Given the description of an element on the screen output the (x, y) to click on. 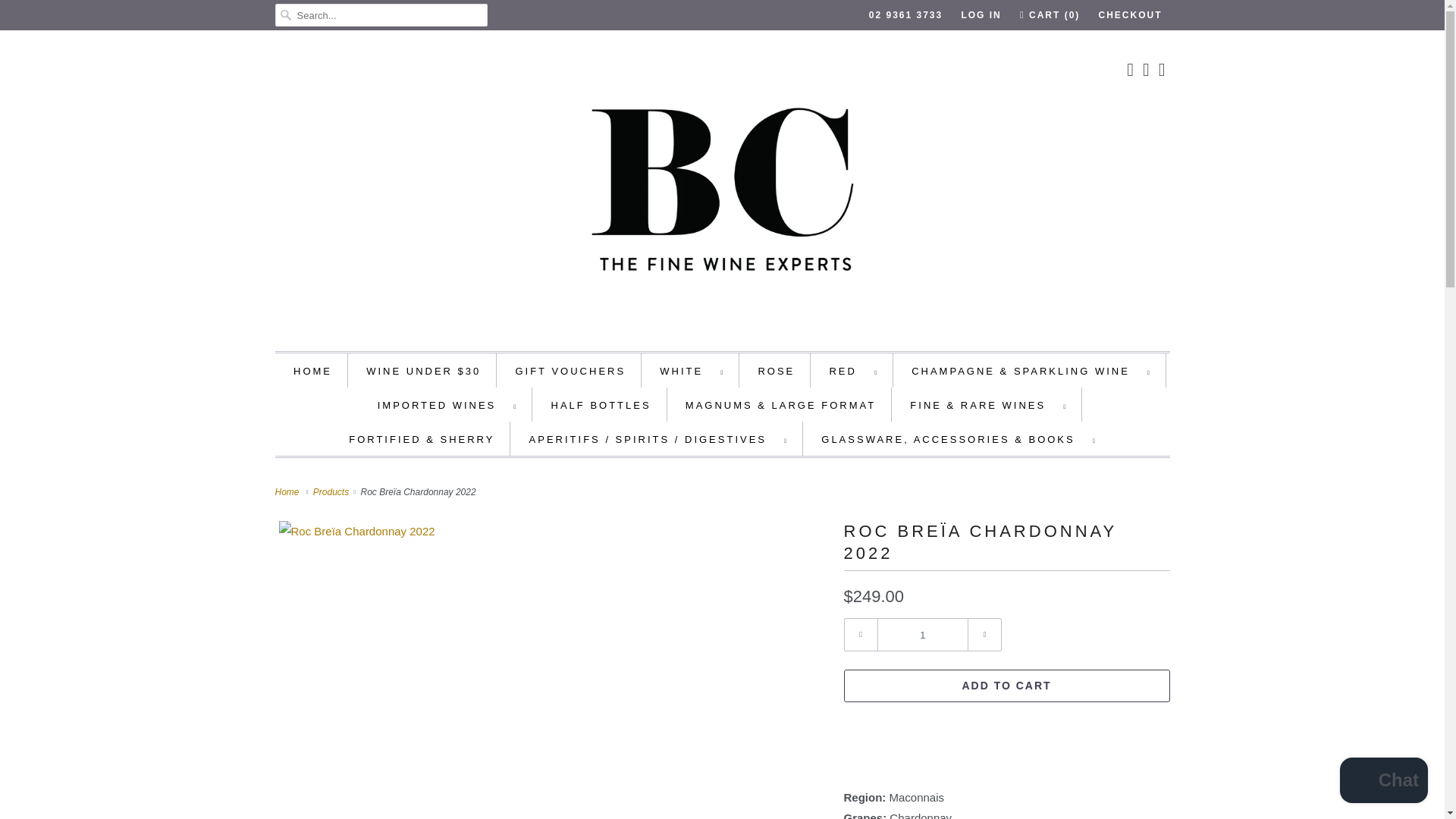
1 (922, 634)
Shopify online store chat (1383, 781)
CHECKOUT (1129, 15)
Products (332, 491)
Best Cellars Sydney (288, 491)
Best Cellars Sydney on Instagram (1145, 69)
02 9361 3733 (905, 15)
Email Best Cellars Sydney (1161, 69)
Best Cellars Sydney on Facebook (1129, 69)
LOG IN (980, 15)
